Given the description of an element on the screen output the (x, y) to click on. 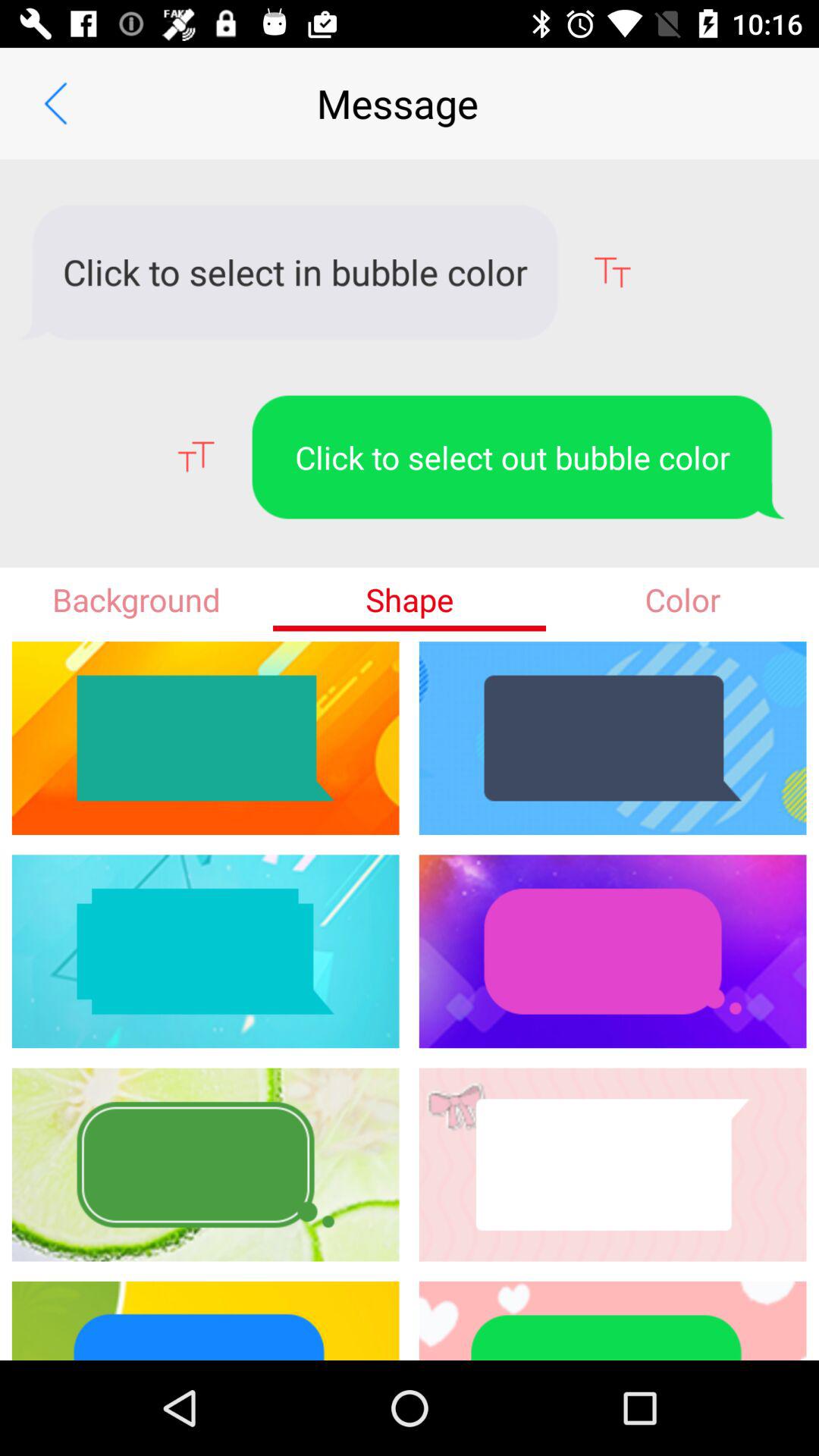
launch item to the left of shape icon (136, 599)
